Given the description of an element on the screen output the (x, y) to click on. 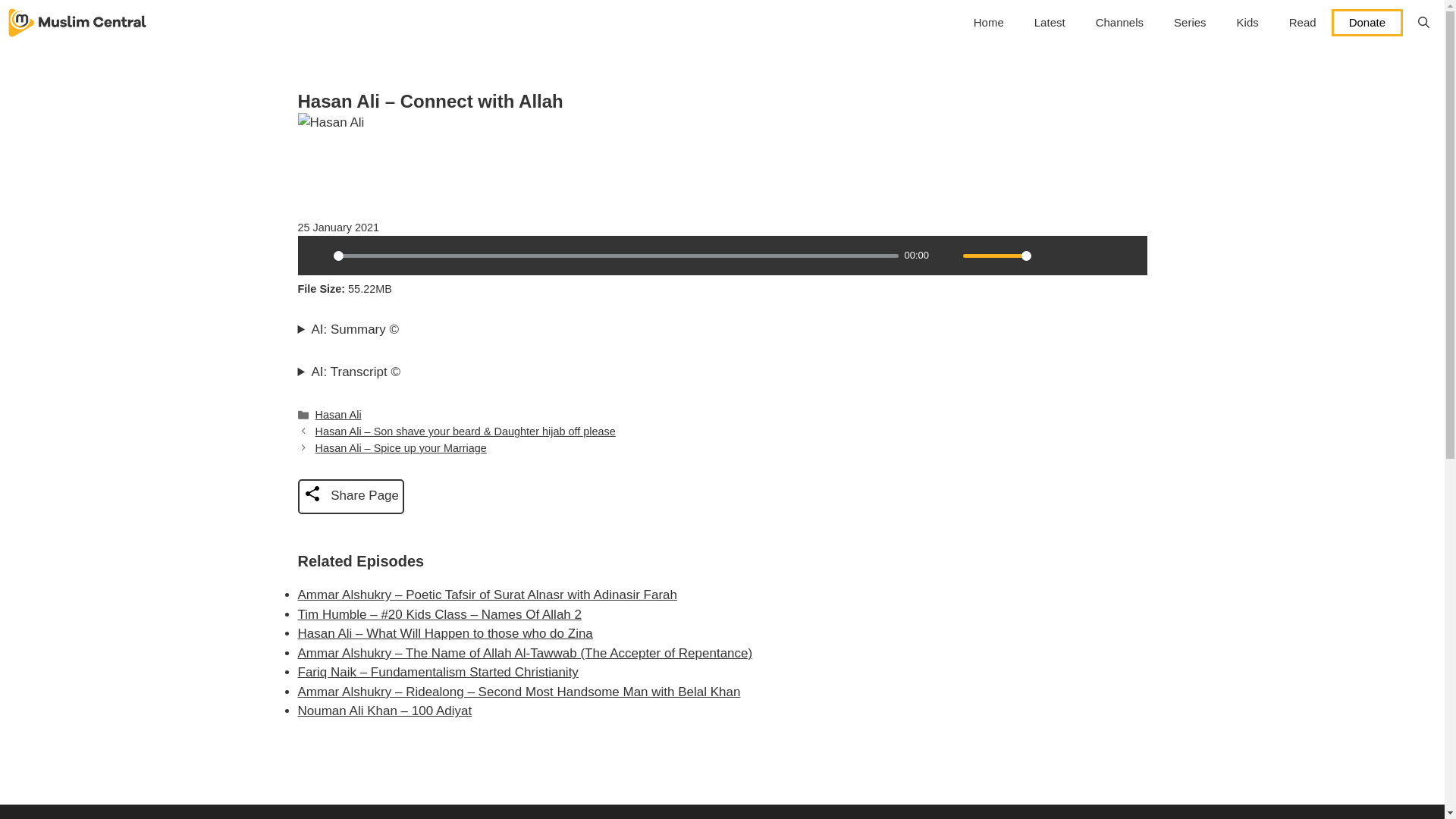
Donate (1367, 22)
Series (1189, 22)
Play (316, 255)
1 (996, 255)
Kids (1247, 22)
Home (988, 22)
Latest (1049, 22)
Muslim Central (77, 22)
Mute (946, 255)
0 (615, 255)
Hasan Ali (338, 414)
Settings (1048, 255)
Channels (1119, 22)
Forward 10s (1126, 255)
Rewind 10s (1101, 255)
